Given the description of an element on the screen output the (x, y) to click on. 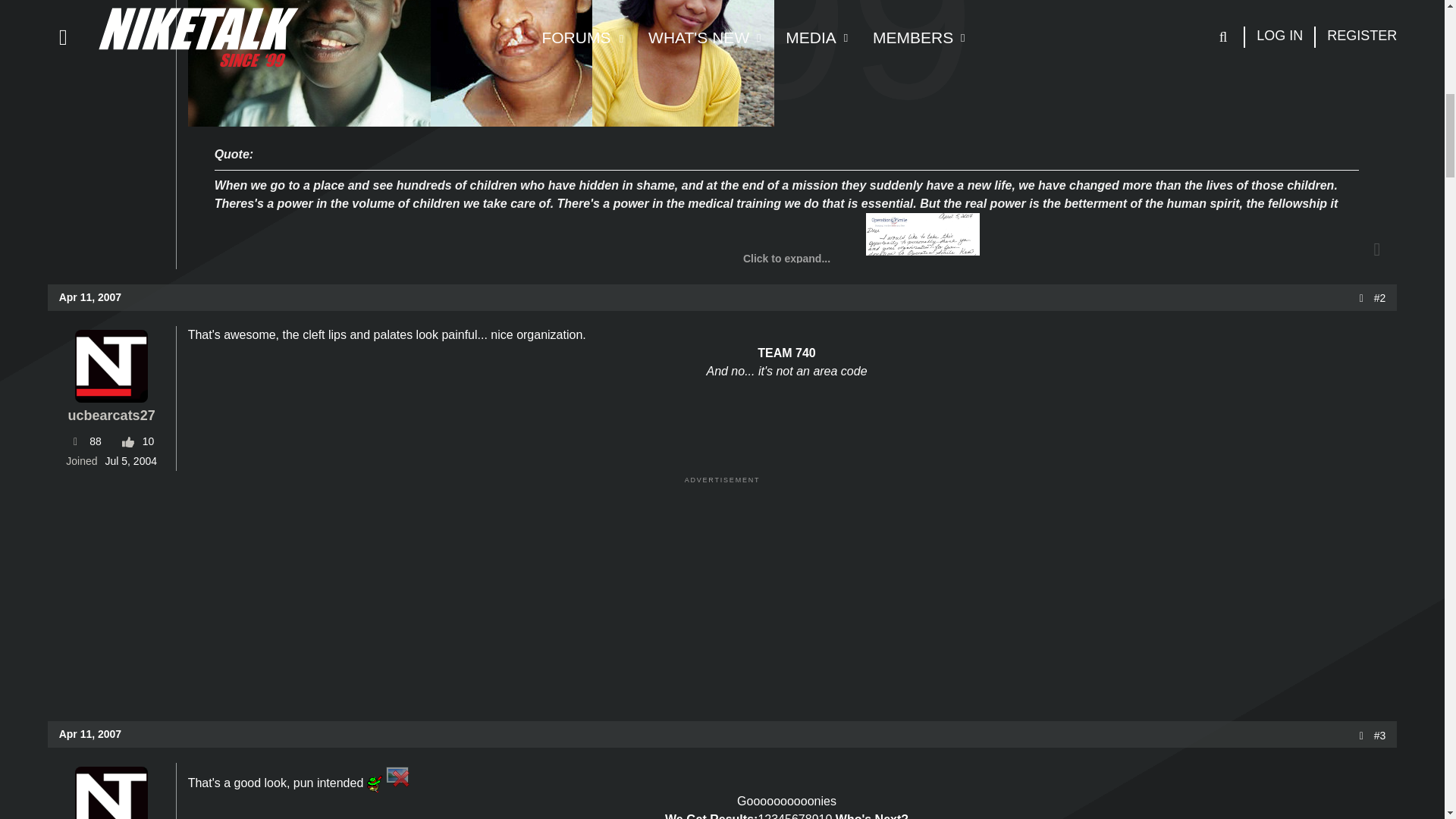
s83825593.jpg (511, 65)
m83826735.jpg (922, 256)
s83825582.jpg (308, 65)
s83825589.jpg (683, 65)
